Given the description of an element on the screen output the (x, y) to click on. 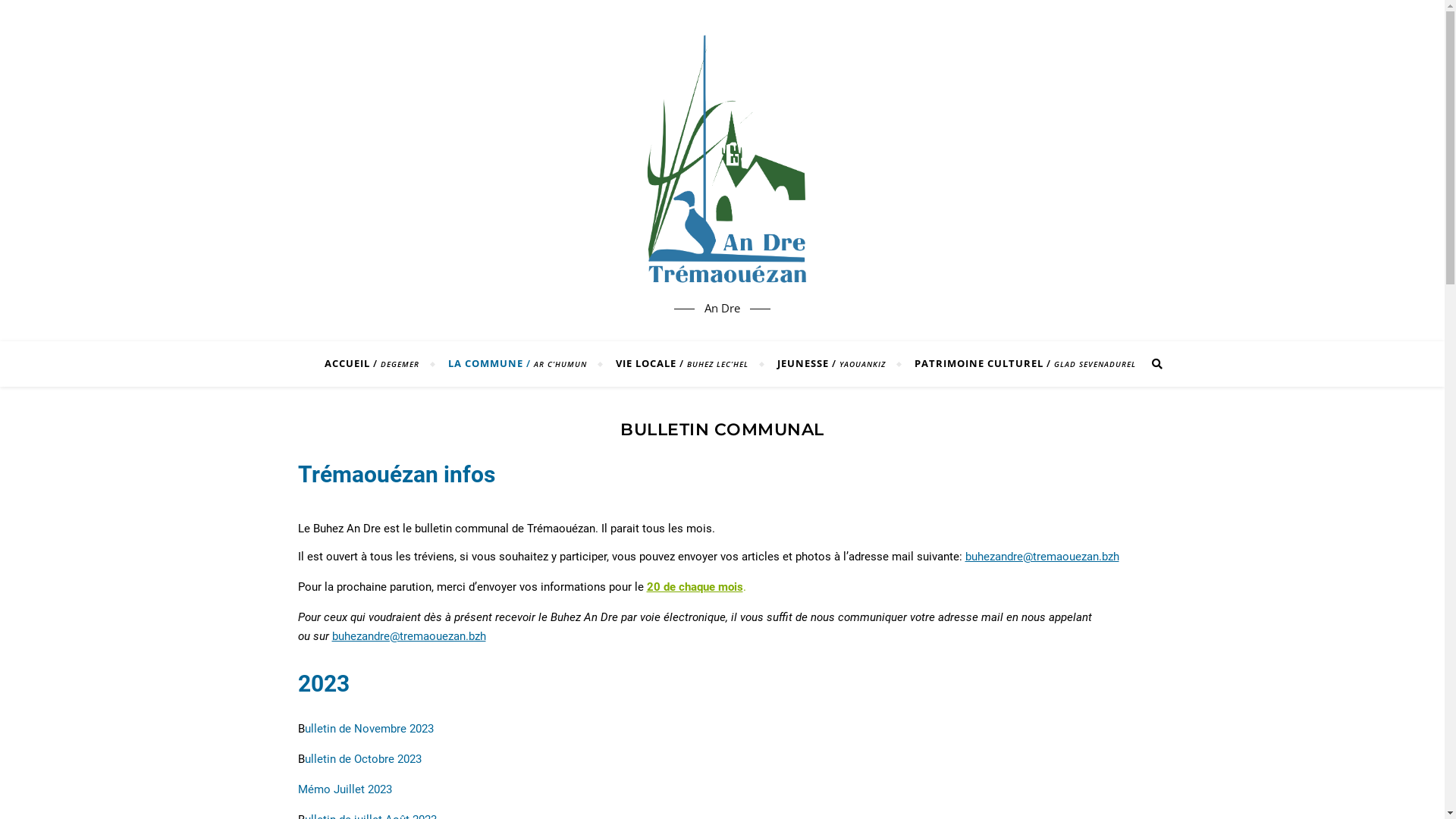
ACCUEIL / DEGEMER Element type: text (378, 363)
ulletin de Novembre 2023 Element type: text (368, 728)
ulletin de Octobre 2023 Element type: text (362, 758)
JEUNESSE / YAOUANKIZ Element type: text (831, 363)
PATRIMOINE CULTUREL / GLAD SEVENADUREL Element type: text (1017, 363)
